Given the description of an element on the screen output the (x, y) to click on. 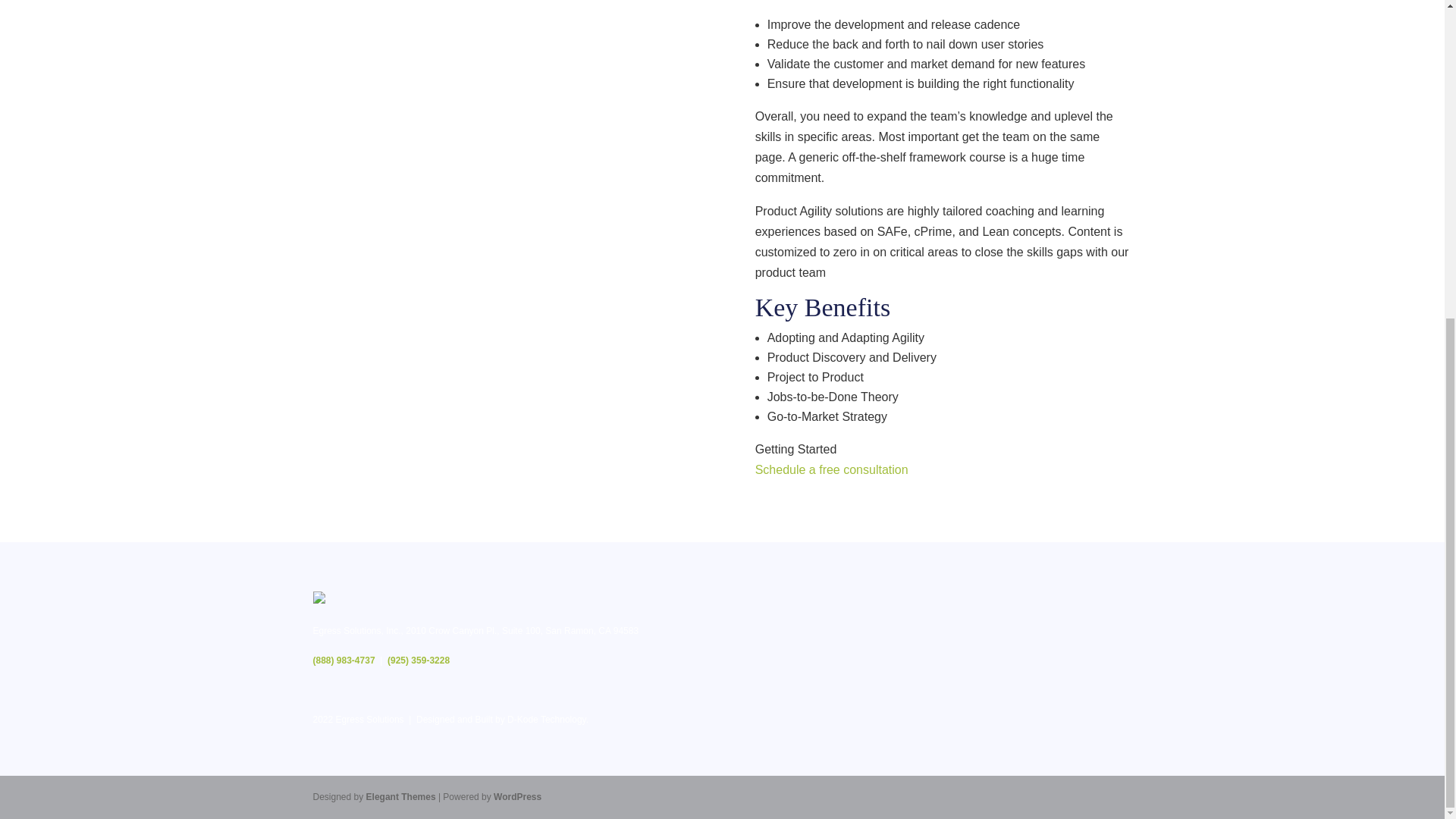
Elegant Themes (400, 796)
Premium WordPress Themes (400, 796)
Schedule a free consultation (831, 469)
WordPress (517, 796)
